Given the description of an element on the screen output the (x, y) to click on. 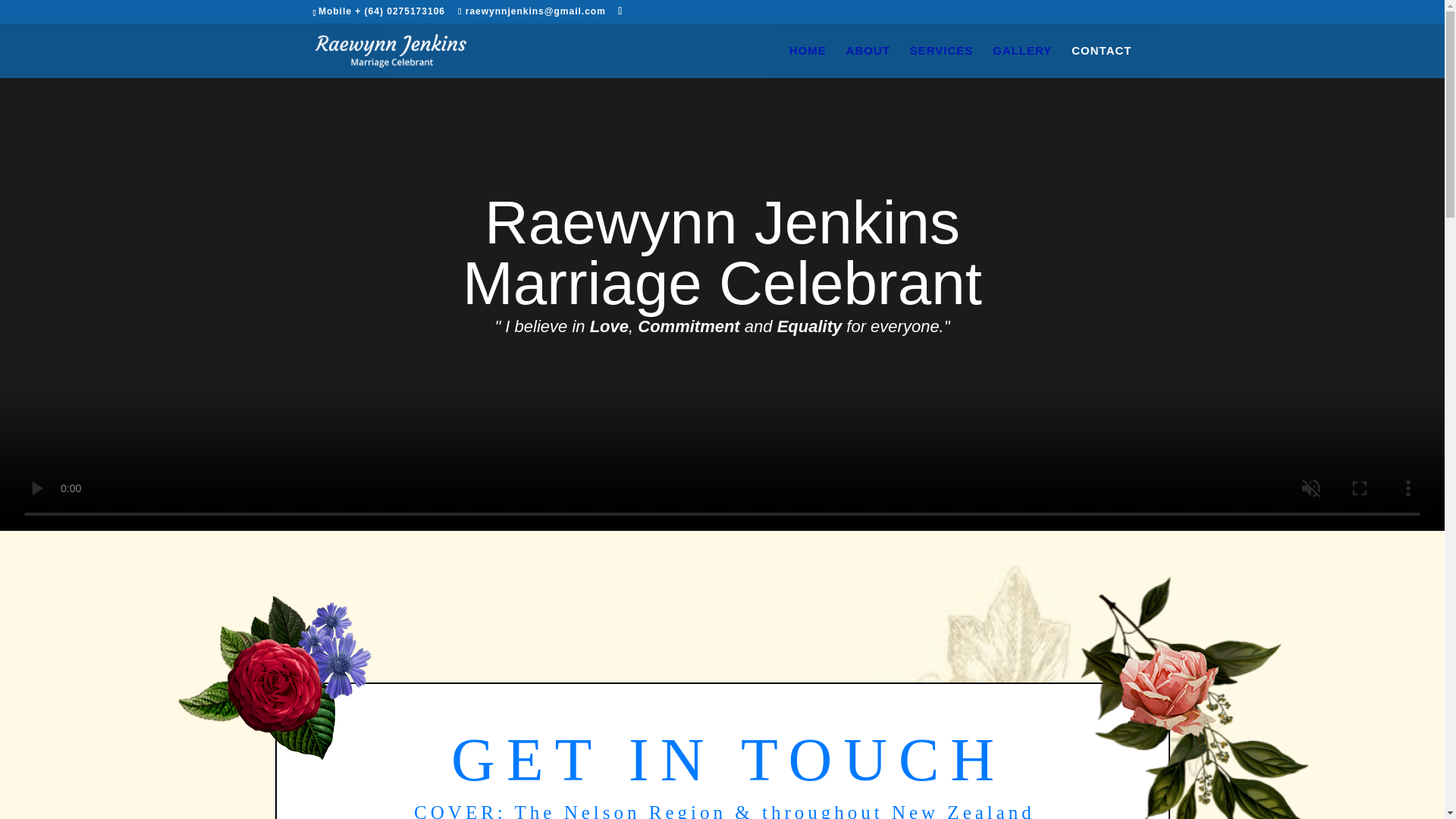
SERVICES (942, 61)
ABOUT (867, 61)
GALLERY (1021, 61)
CONTACT (1101, 61)
HOME (808, 61)
